Given the description of an element on the screen output the (x, y) to click on. 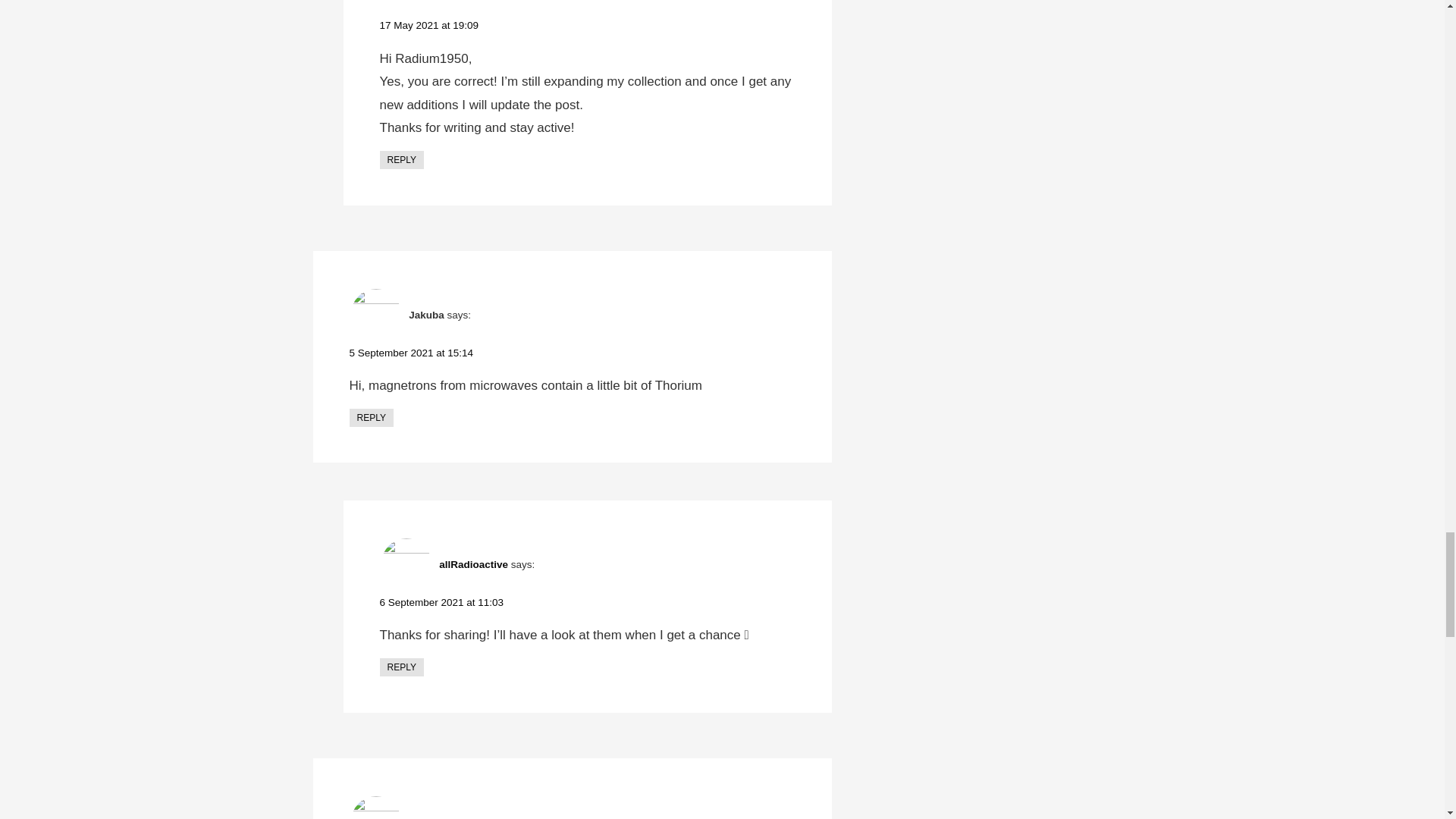
5 September 2021 at 15:14 (411, 352)
17 May 2021 at 19:09 (428, 25)
REPLY (400, 667)
REPLY (371, 417)
allRadioactive (473, 564)
REPLY (400, 159)
6 September 2021 at 11:03 (440, 602)
